Given the description of an element on the screen output the (x, y) to click on. 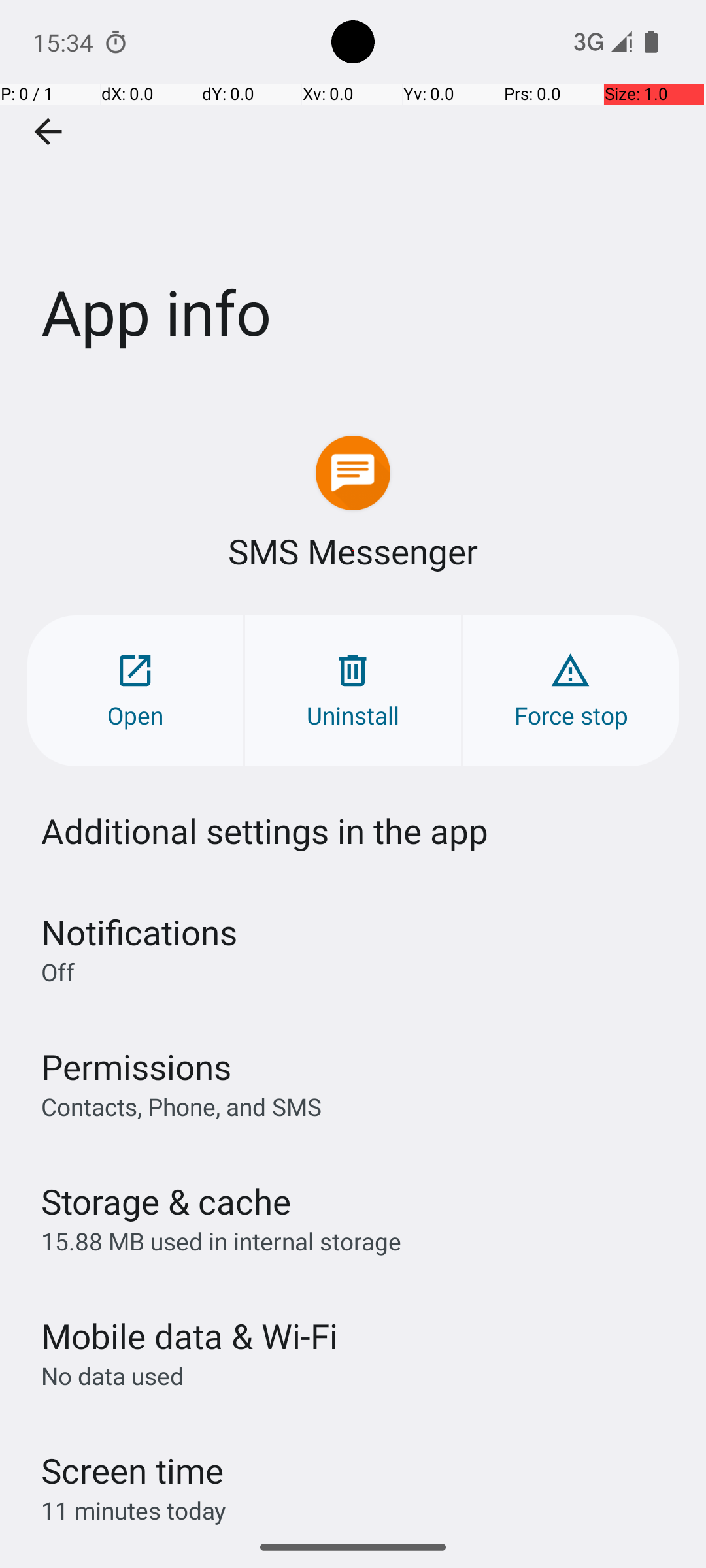
Contacts, Phone, and SMS Element type: android.widget.TextView (181, 1106)
15.88 MB used in internal storage Element type: android.widget.TextView (221, 1240)
11 minutes today Element type: android.widget.TextView (133, 1509)
